Given the description of an element on the screen output the (x, y) to click on. 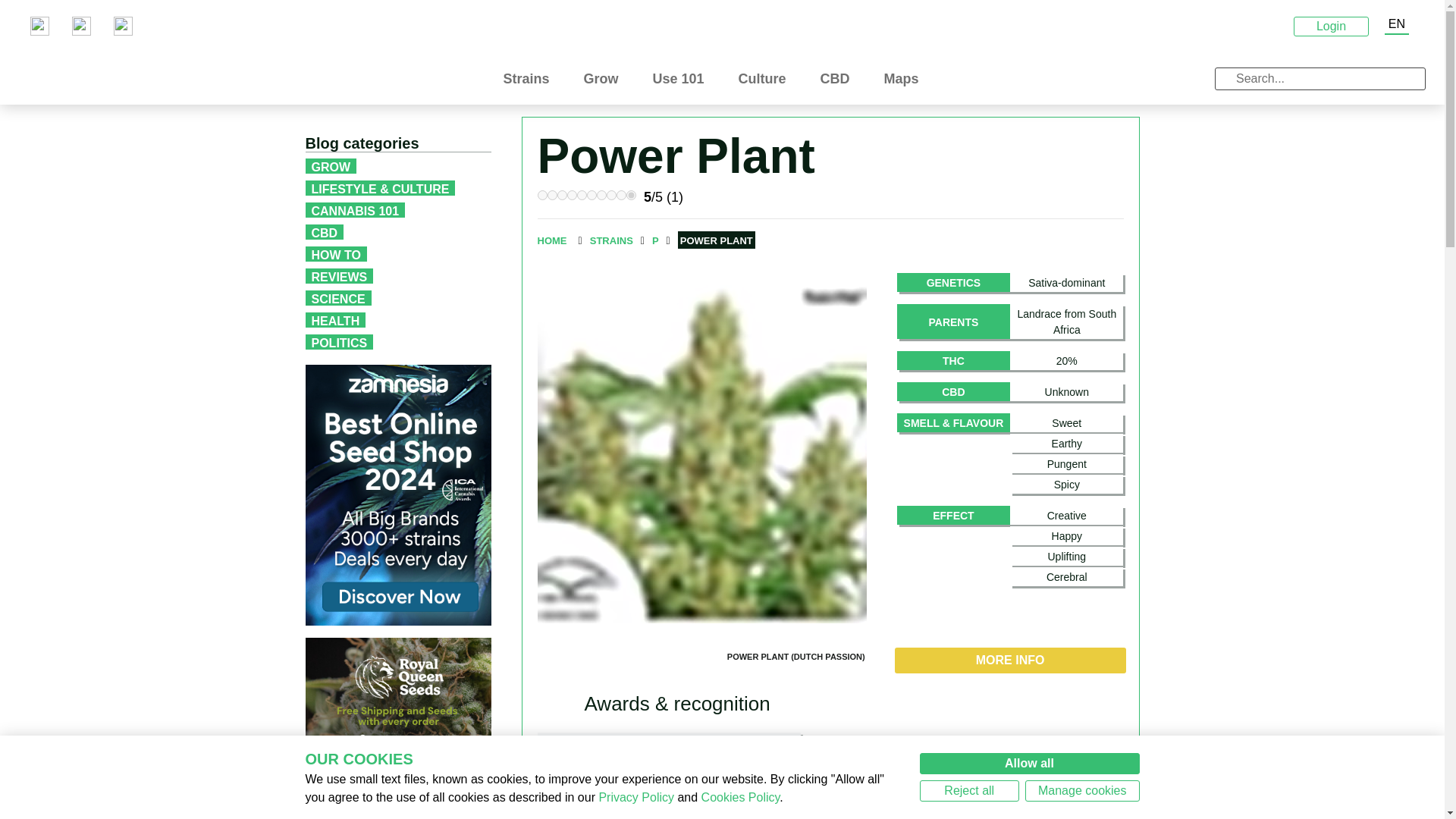
Grow (605, 79)
8 (611, 194)
6 (591, 194)
5 (581, 194)
Strains (531, 79)
4 (571, 194)
CBD (841, 79)
Maps (906, 79)
9 (620, 194)
Culture (767, 79)
